Given the description of an element on the screen output the (x, y) to click on. 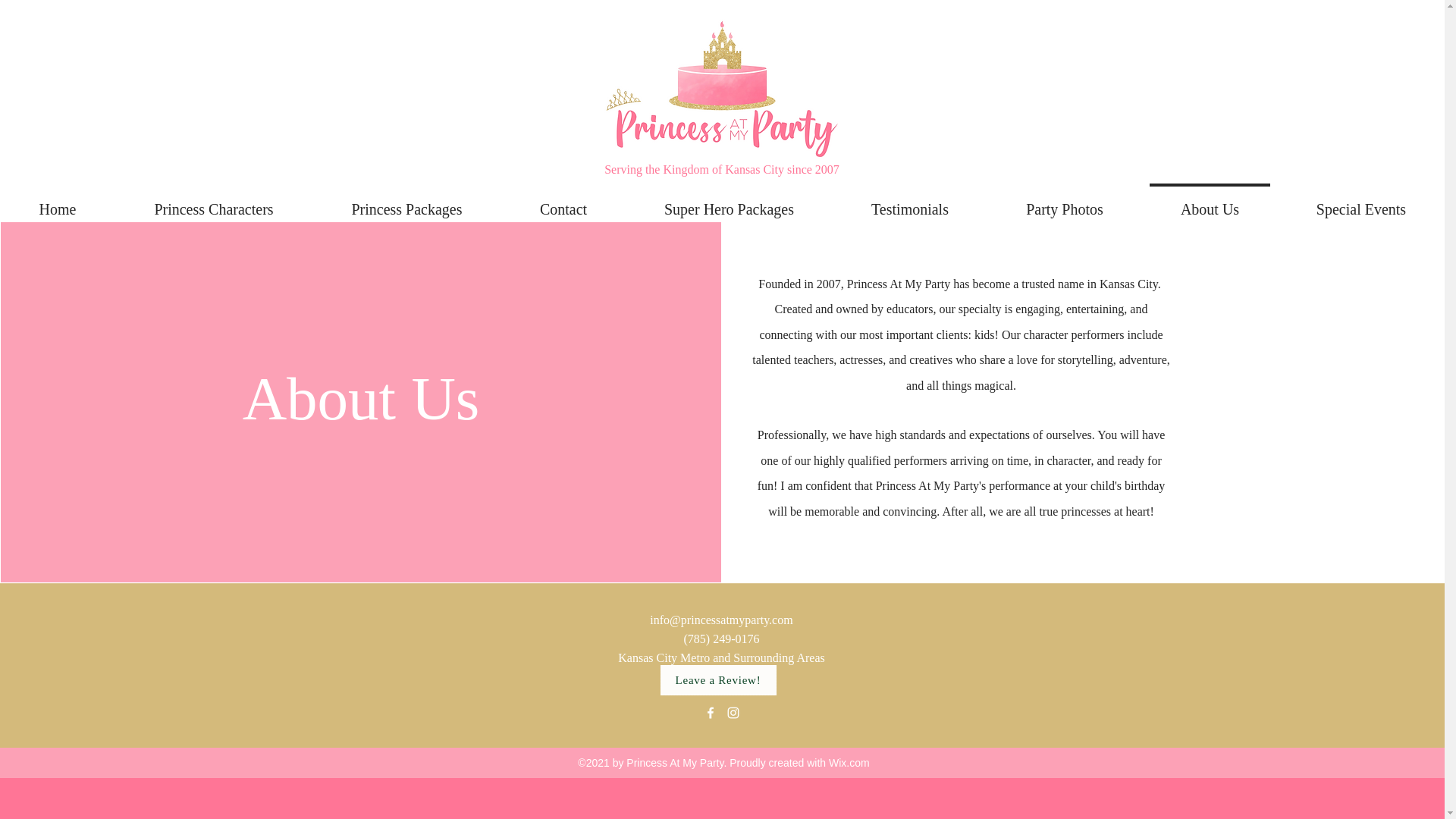
Party Photos (1064, 202)
Contact (563, 202)
Leave a Review! (717, 680)
Testimonials (909, 202)
Home (57, 202)
Super Hero Packages (729, 202)
Princess Packages (406, 202)
About Us (1209, 202)
Princess Characters (214, 202)
